Given the description of an element on the screen output the (x, y) to click on. 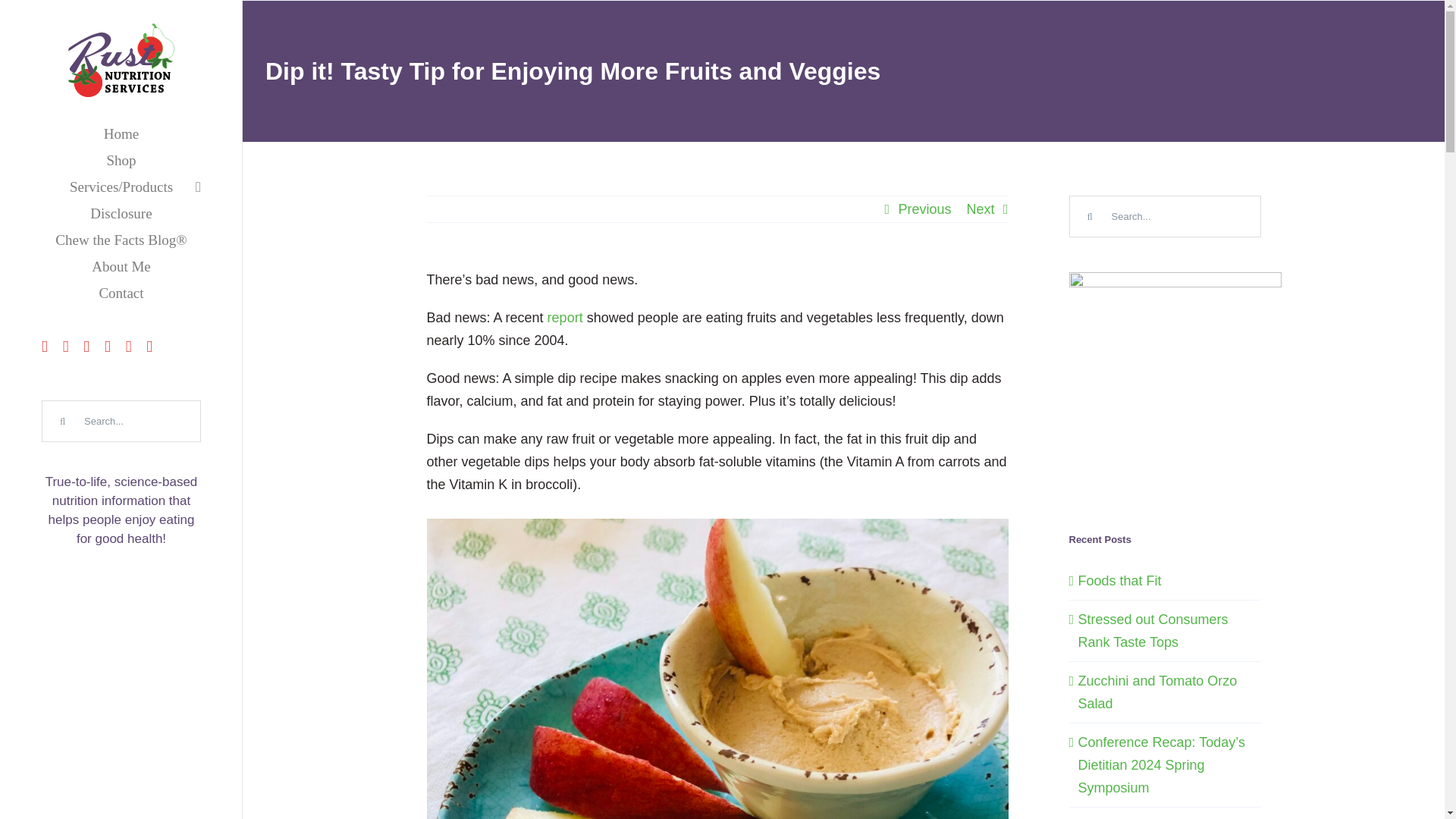
Previous (924, 208)
Next (980, 208)
Shop (121, 160)
Contact (121, 293)
report (565, 317)
Disclosure (121, 212)
Home (121, 133)
About Me (121, 266)
